Given the description of an element on the screen output the (x, y) to click on. 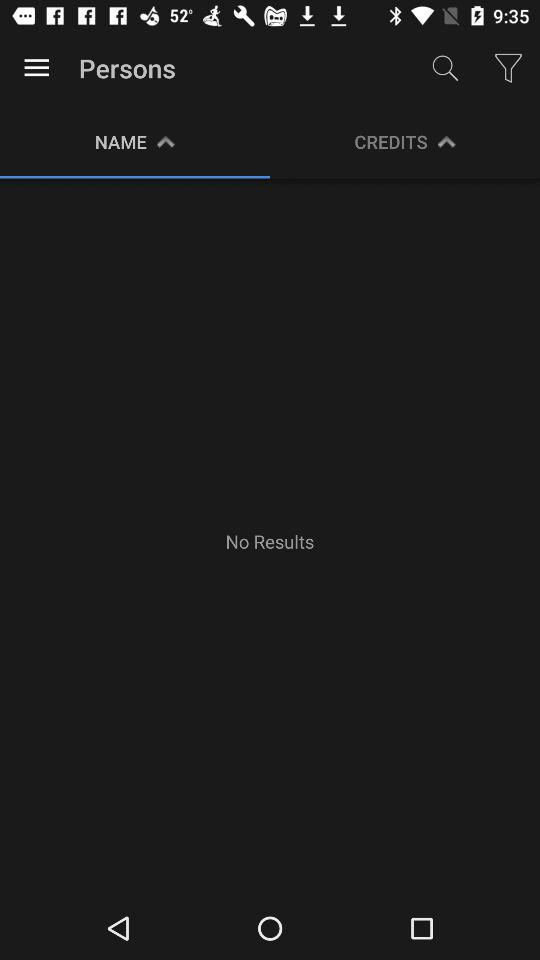
open the app to the left of the persons (36, 68)
